Given the description of an element on the screen output the (x, y) to click on. 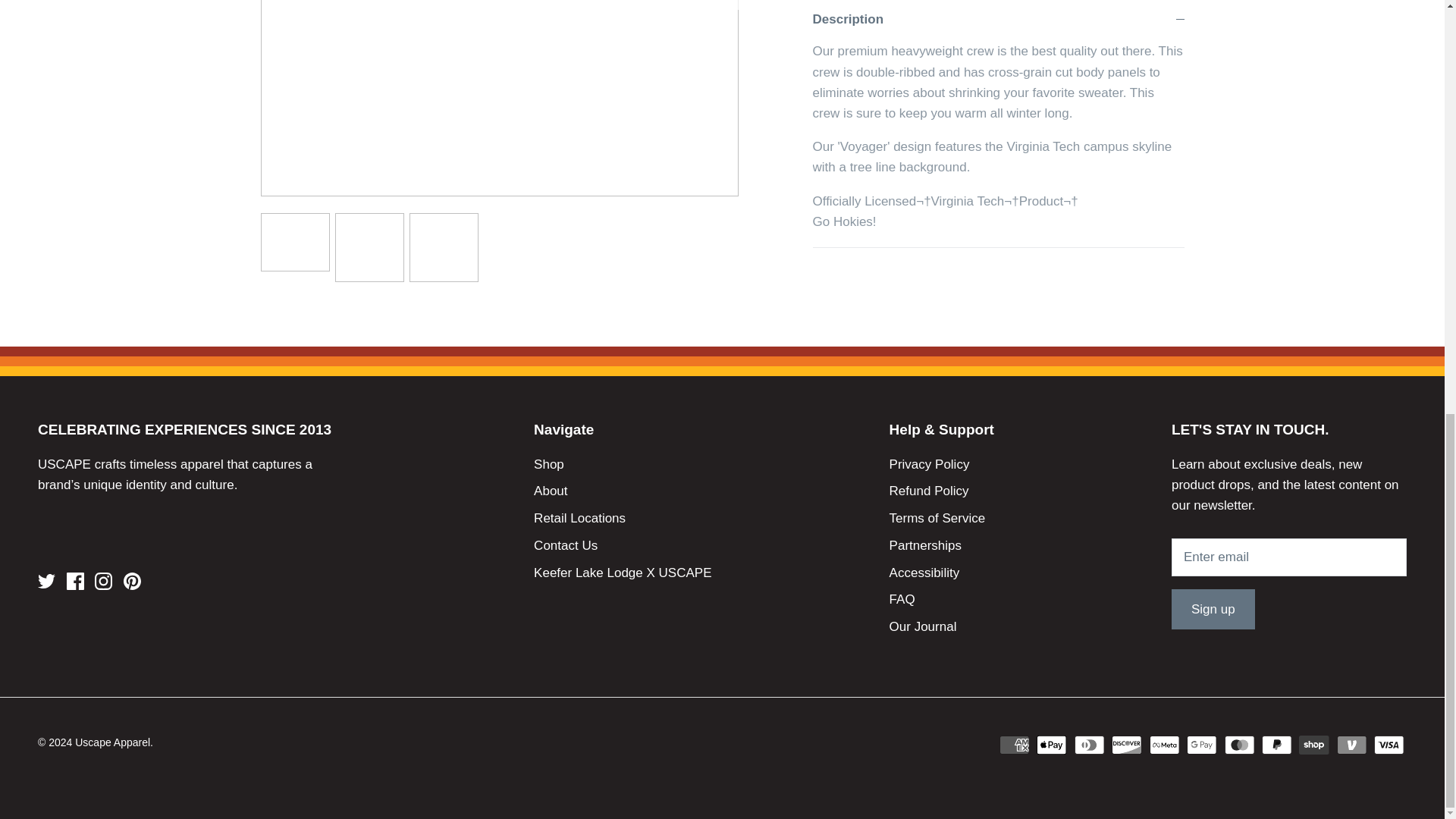
Pinterest (132, 580)
Twitter (46, 580)
Facebook (75, 580)
Apple Pay (1051, 744)
Instagram (103, 580)
Discover (1126, 744)
American Express (1013, 744)
Meta Pay (1164, 744)
Diners Club (1089, 744)
